Given the description of an element on the screen output the (x, y) to click on. 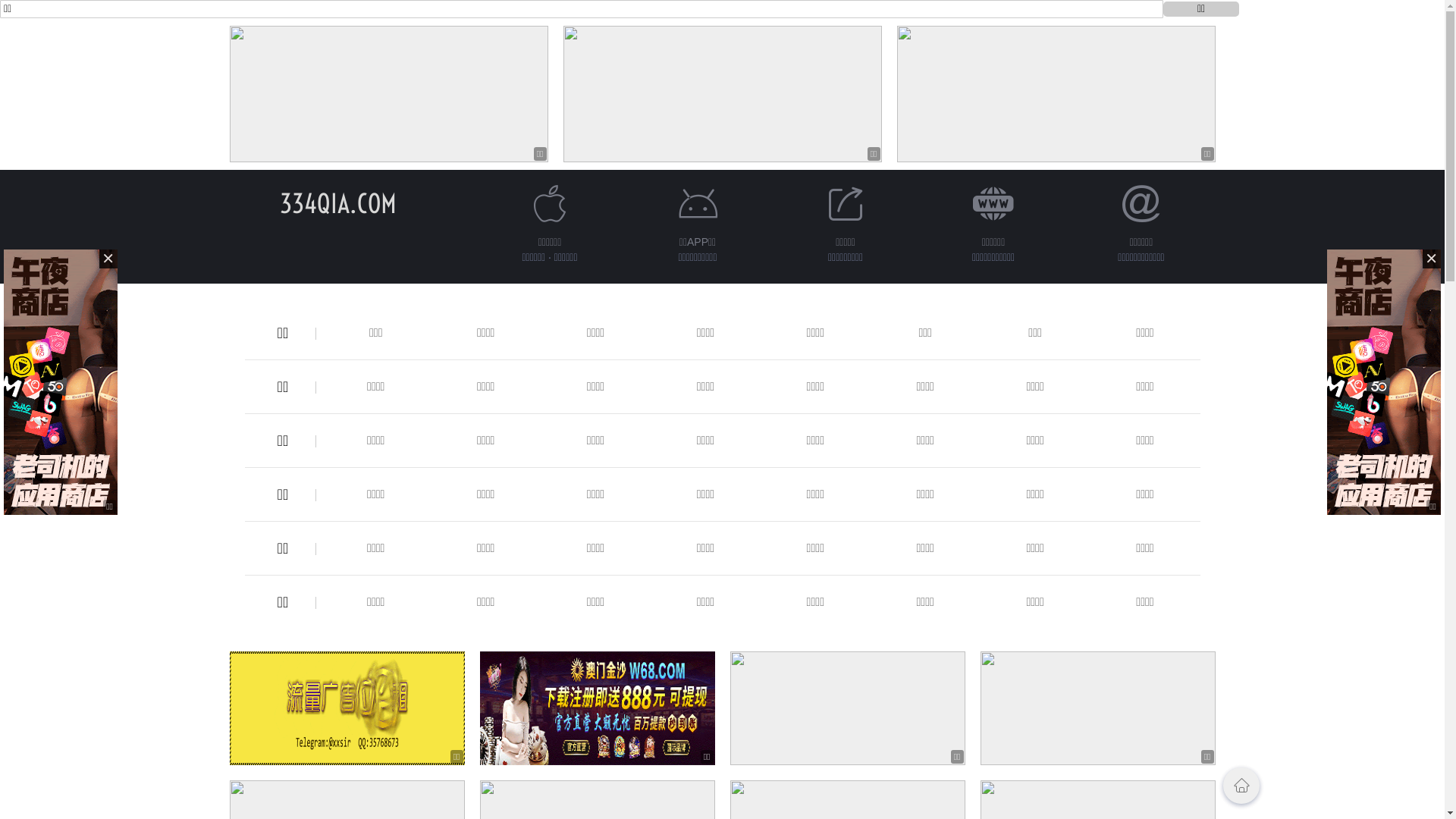
334QIA.COM Element type: text (337, 203)
